Given the description of an element on the screen output the (x, y) to click on. 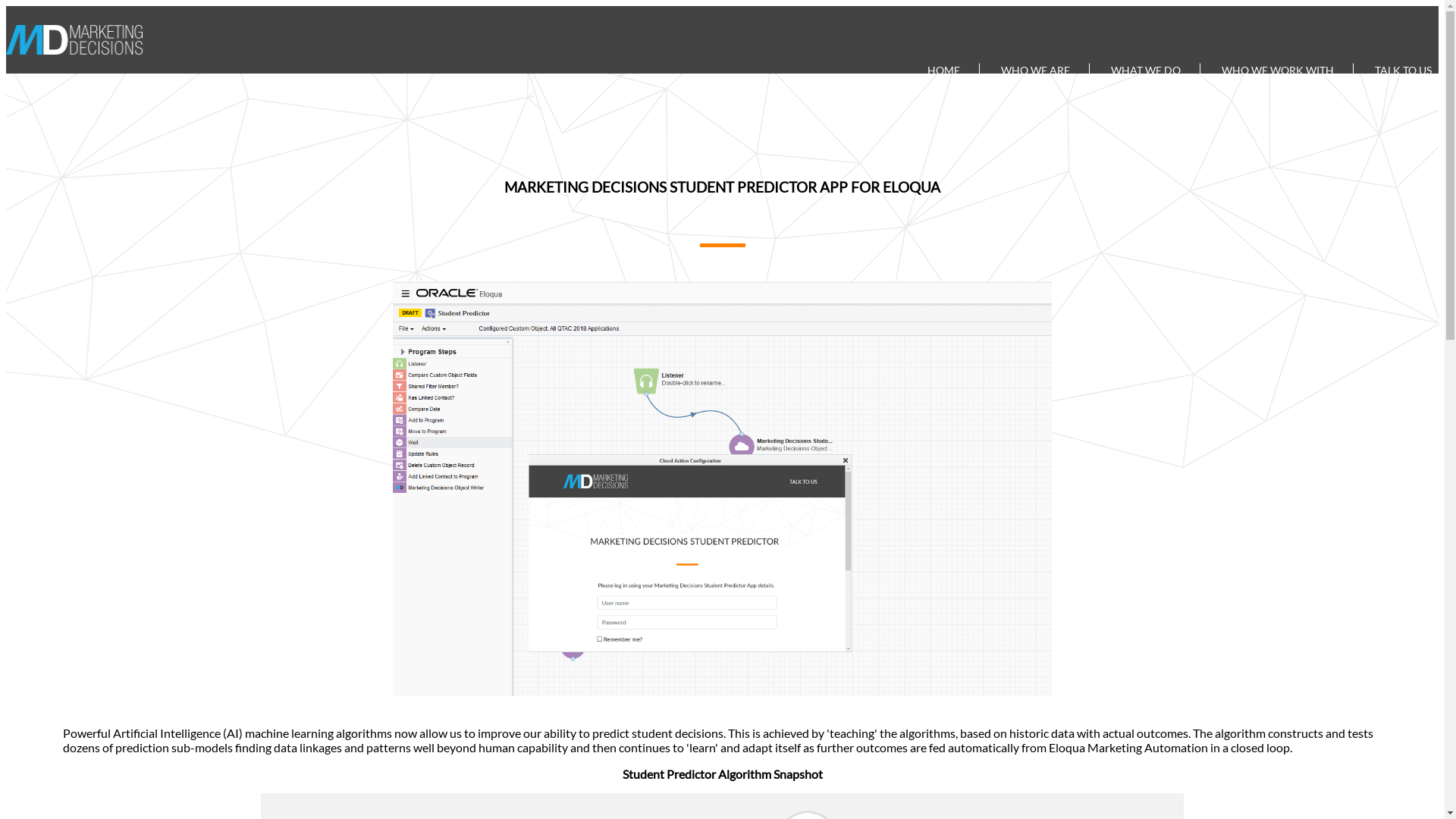
TALK TO US Element type: text (1402, 69)
WHO WE ARE Element type: text (1035, 69)
HOME Element type: text (943, 69)
WHAT WE DO Element type: text (1146, 69)
WHO WE WORK WITH Element type: text (1277, 69)
